Given the description of an element on the screen output the (x, y) to click on. 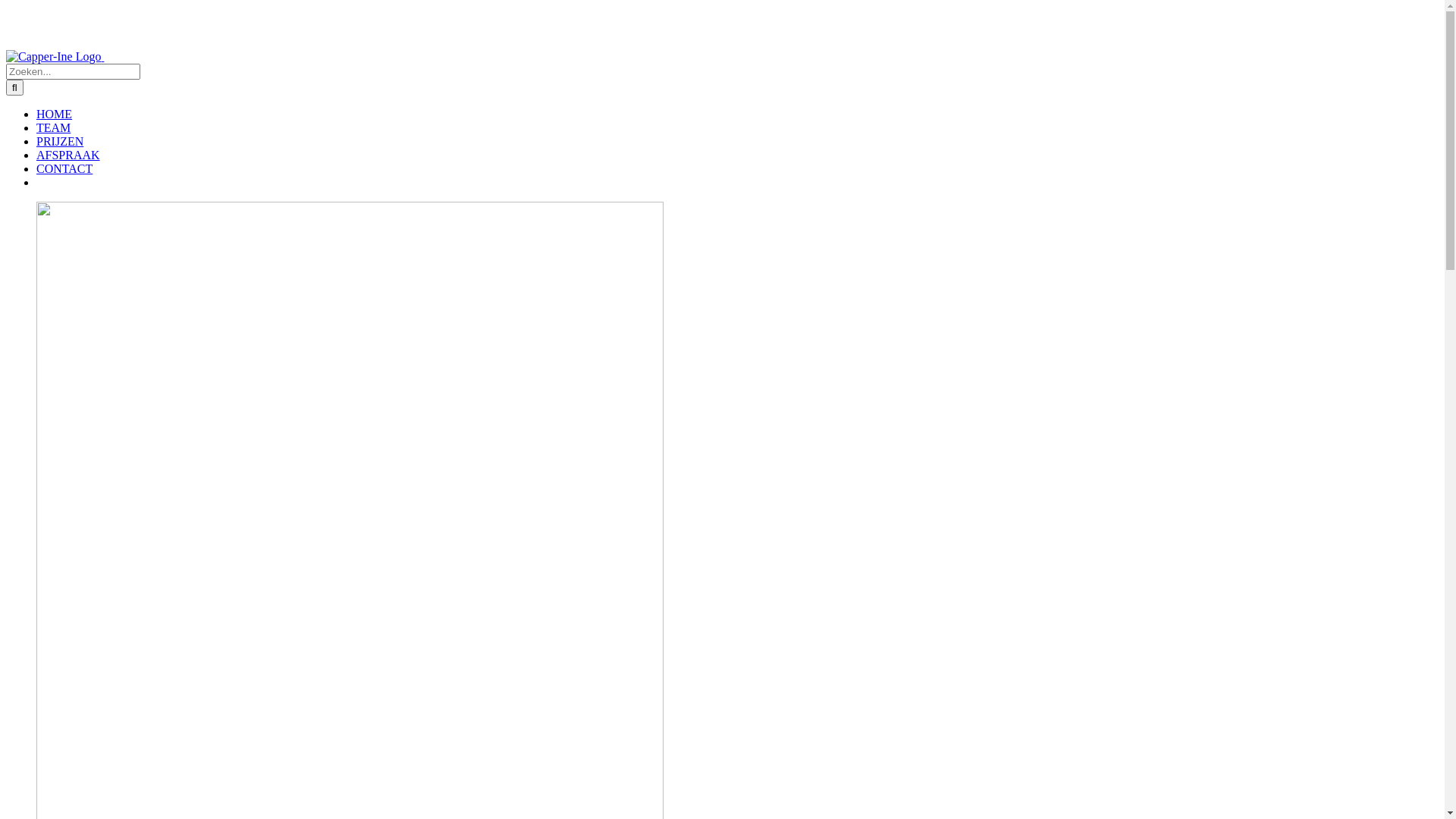
CONTACT Element type: text (64, 168)
TEAM Element type: text (53, 127)
PRIJZEN Element type: text (59, 140)
AFSPRAAK Element type: text (68, 154)
HOME Element type: text (54, 113)
Ga naar inhoud Element type: text (5, 5)
